Given the description of an element on the screen output the (x, y) to click on. 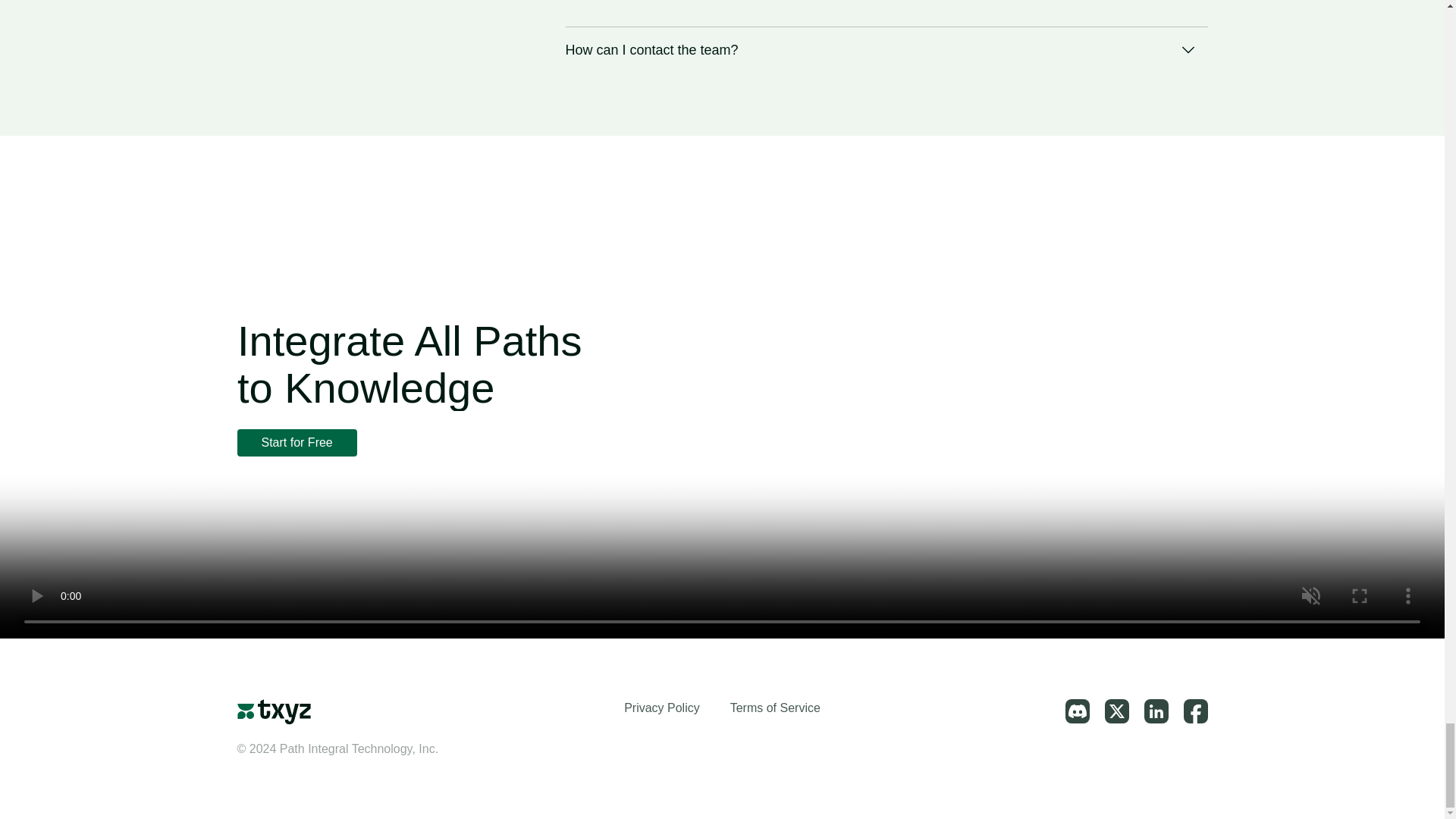
Terms of Service (775, 707)
Privacy Policy (662, 707)
Start for Free (295, 442)
